Given the description of an element on the screen output the (x, y) to click on. 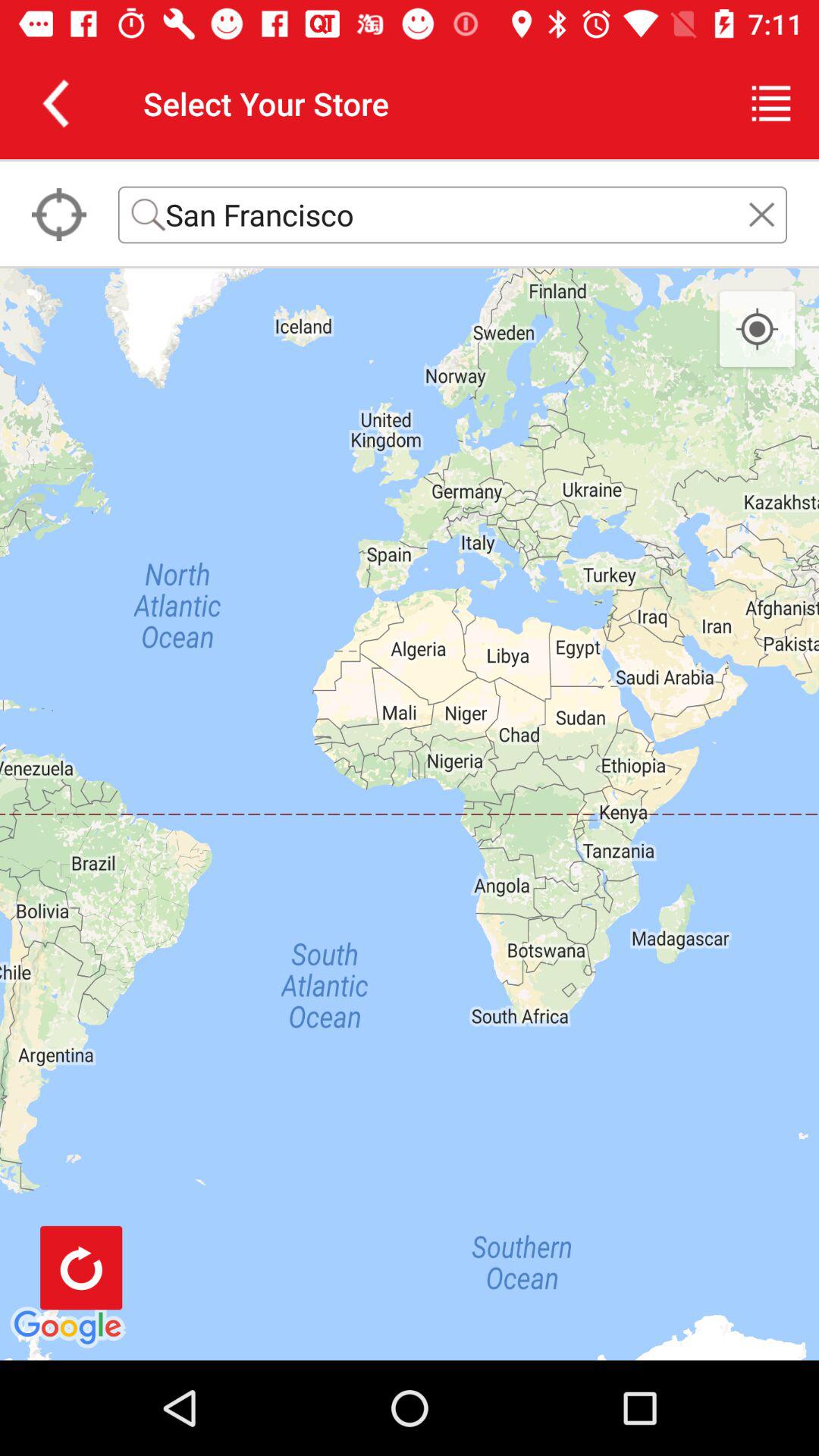
click item to the left of san francisco item (58, 214)
